Given the description of an element on the screen output the (x, y) to click on. 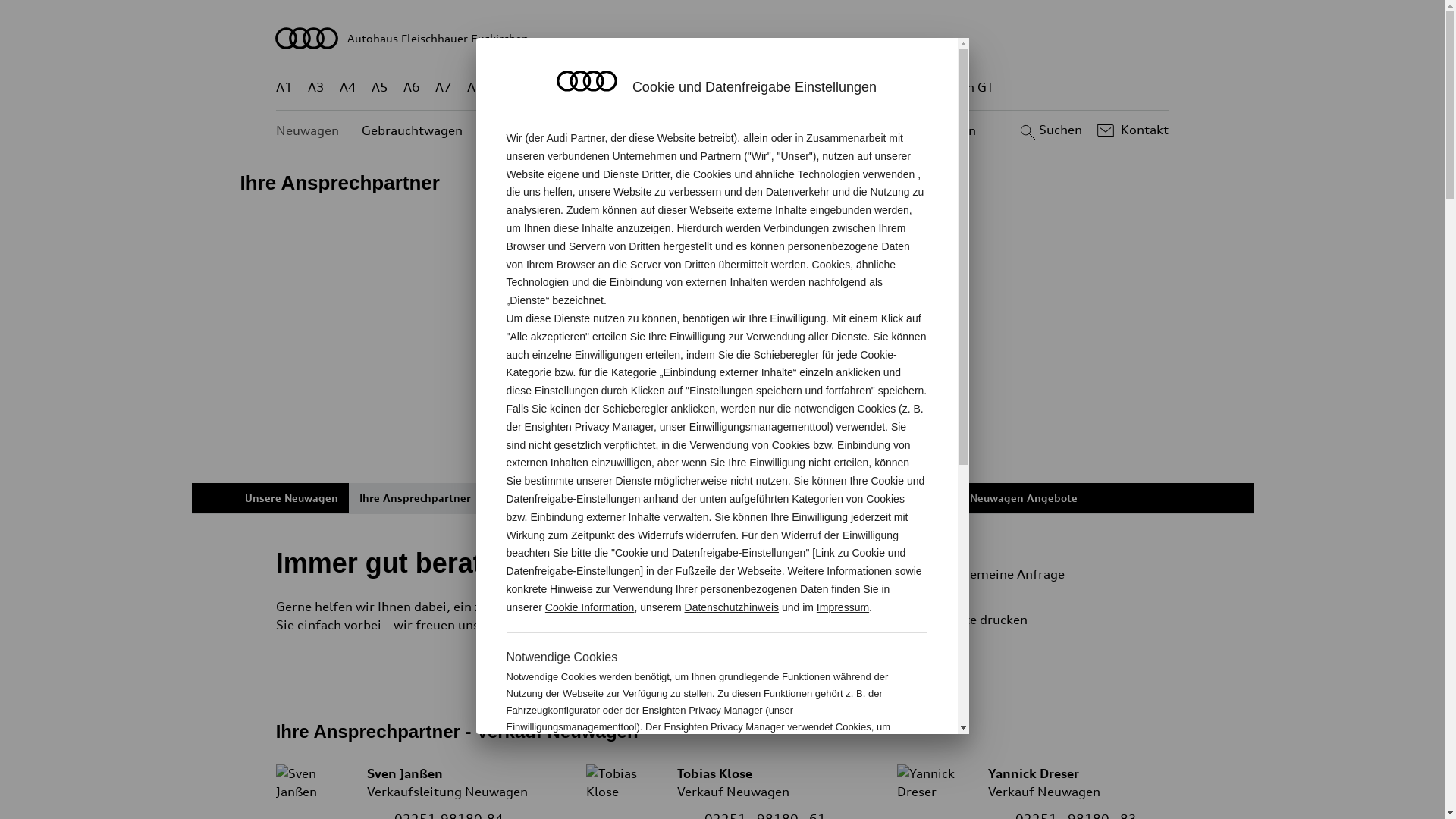
Allgemeine Anfrage Element type: text (1038, 573)
Q7 Element type: text (678, 87)
Q8 Element type: text (710, 87)
A7 Element type: text (443, 87)
Unsere Neuwagen Angebote Element type: text (1003, 498)
Unsere Neuwagen Element type: text (290, 498)
Datenschutzhinweis Element type: text (731, 607)
A3 Element type: text (315, 87)
Kundenservice Element type: text (730, 130)
Q8 e-tron Element type: text (763, 87)
Cookie Information Element type: text (589, 607)
RS Element type: text (861, 87)
Audi RS-Modelle Element type: text (865, 498)
Q2 Element type: text (507, 87)
A1 Element type: text (284, 87)
Autohaus Fleischhauer Euskirchen Element type: text (722, 38)
A6 Element type: text (411, 87)
e-tron GT Element type: text (965, 87)
Angebote Element type: text (636, 130)
Yannick Dreser Element type: hover (935, 782)
Impressum Element type: text (842, 607)
Audi Partner Element type: text (575, 137)
A4 Element type: text (347, 87)
TT Element type: text (814, 87)
Tobias Klose Element type: hover (624, 782)
Audi Versicherung - Probemonat Element type: text (718, 498)
Suchen Element type: text (1049, 130)
Cookie Information Element type: text (847, 776)
g-tron Element type: text (903, 87)
Q3 Element type: text (540, 87)
Audi Erlebnis Abholung Element type: text (552, 498)
Seite drucken Element type: text (1044, 619)
Ihre Ansprechpartner Element type: text (414, 498)
Gebrauchtwagen Element type: text (411, 130)
A8 Element type: text (475, 87)
Neuwagen Element type: text (307, 130)
Kontakt Element type: text (1130, 130)
Q4 e-tron Element type: text (592, 87)
Q5 Element type: text (645, 87)
A5 Element type: text (379, 87)
